Given the description of an element on the screen output the (x, y) to click on. 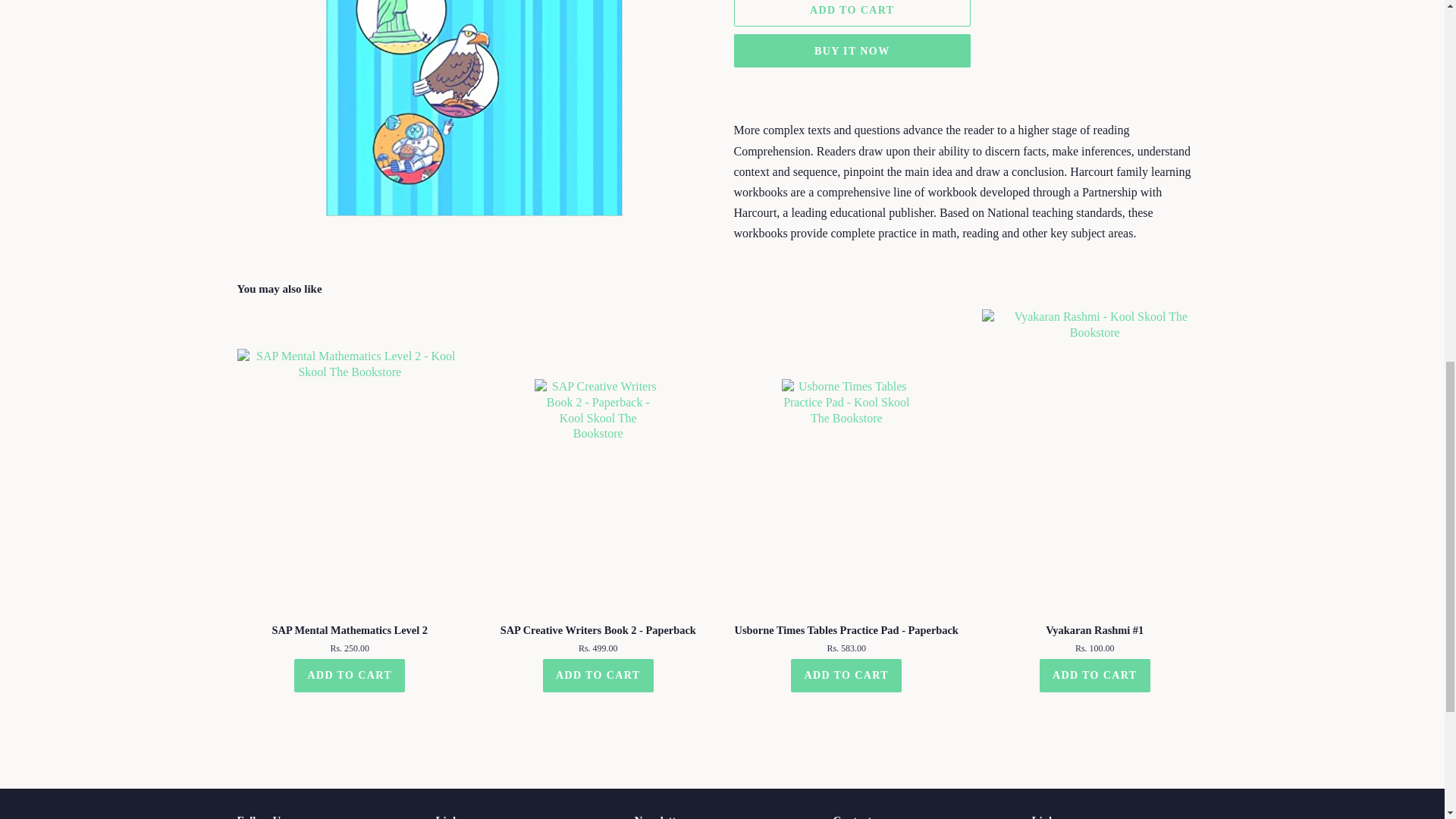
Add to cart (598, 675)
Add to cart (845, 675)
Add to cart (1094, 675)
Add to cart (349, 675)
